Given the description of an element on the screen output the (x, y) to click on. 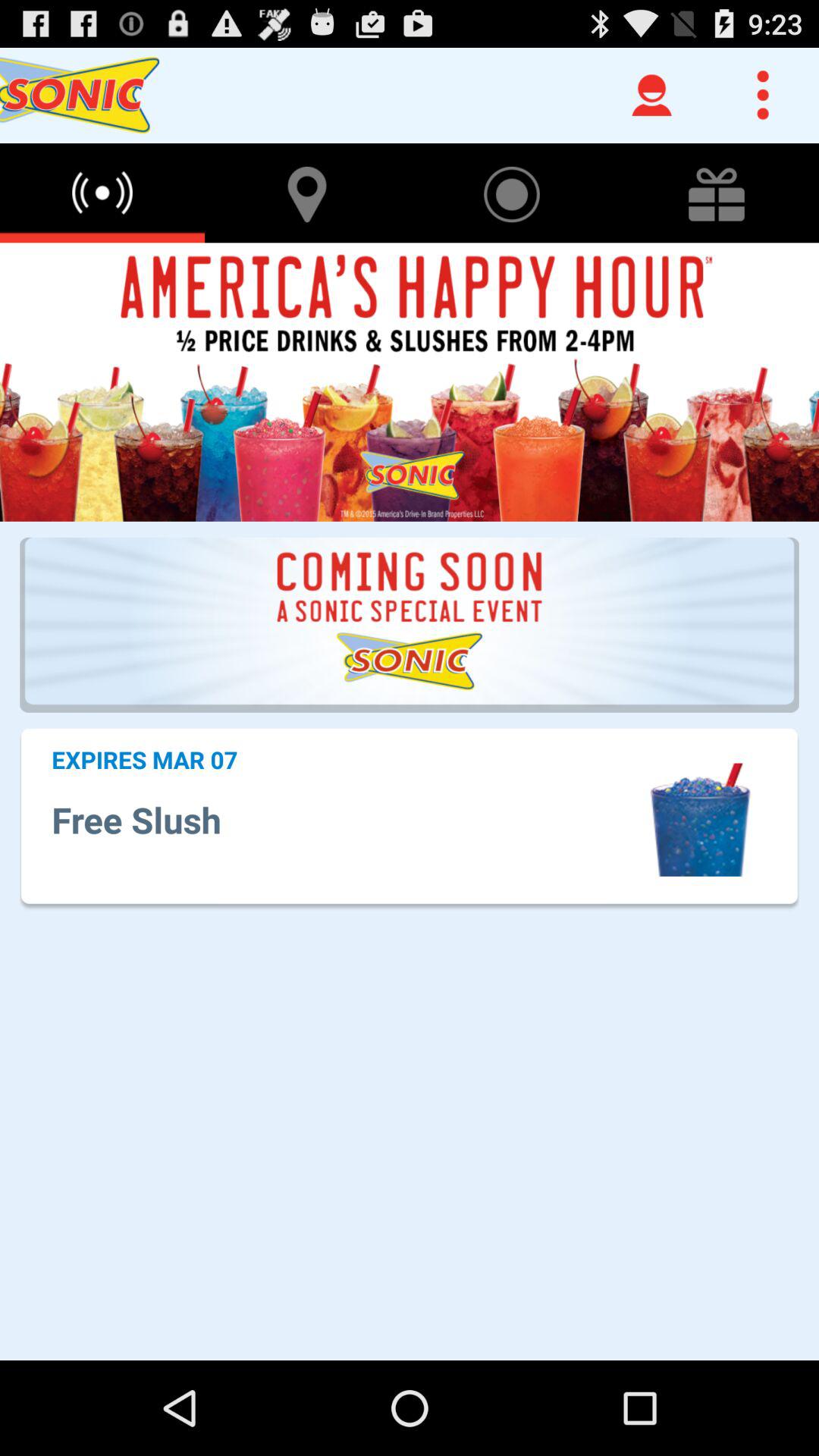
tap item above expires mar 07 icon (409, 624)
